Given the description of an element on the screen output the (x, y) to click on. 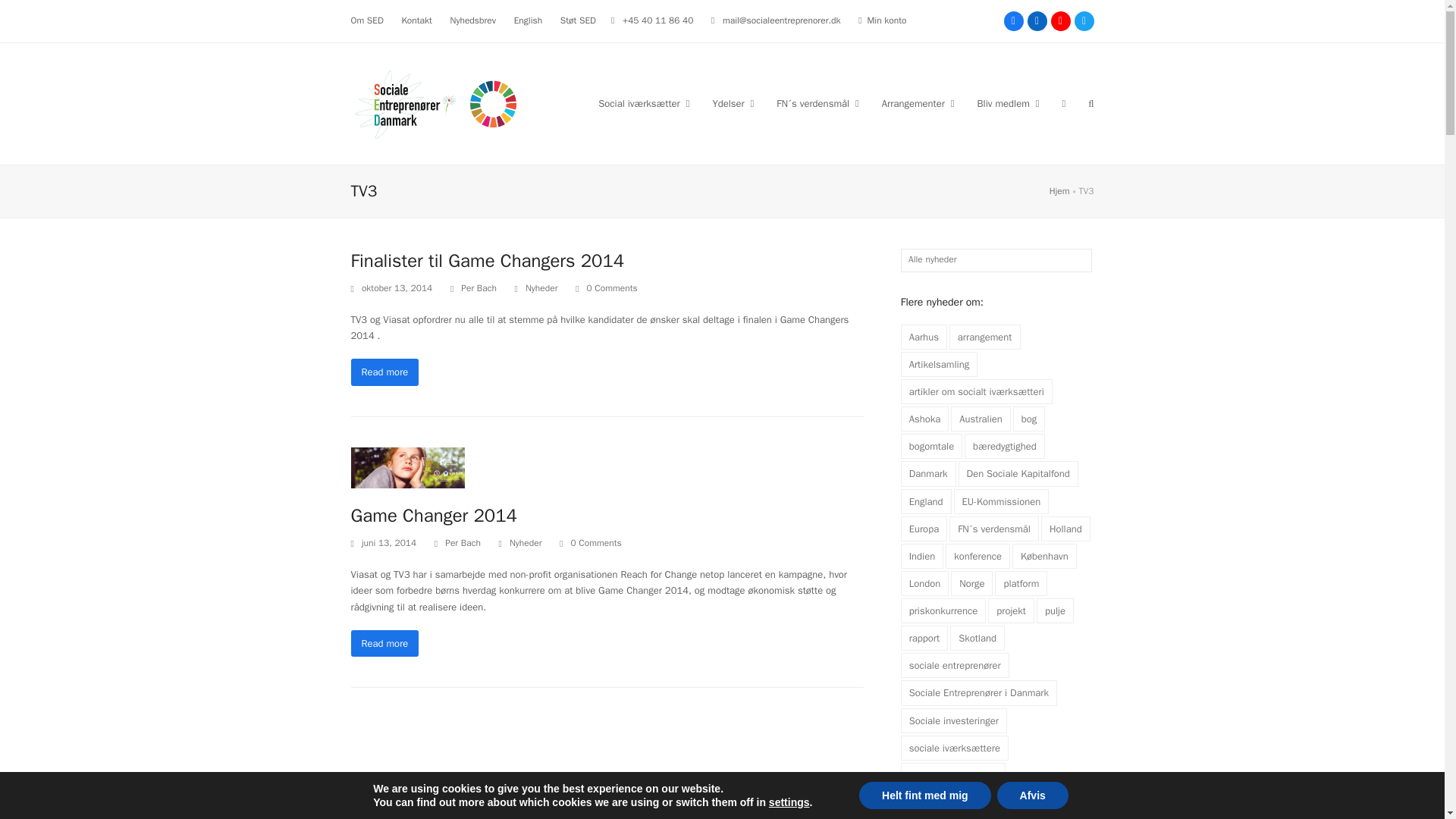
Facebook (1013, 21)
LinkedIn (1036, 21)
0 Comments (590, 543)
Game Changer 2014 (407, 466)
0 Comments (606, 288)
Om SED (366, 20)
Bliv medlem (1008, 103)
Arrangementer (918, 103)
English (528, 20)
Kontakt (415, 20)
Nyhedsbrev (472, 20)
Twitter (1083, 21)
Ydelser (732, 103)
Youtube (1060, 21)
Min konto (887, 20)
